Given the description of an element on the screen output the (x, y) to click on. 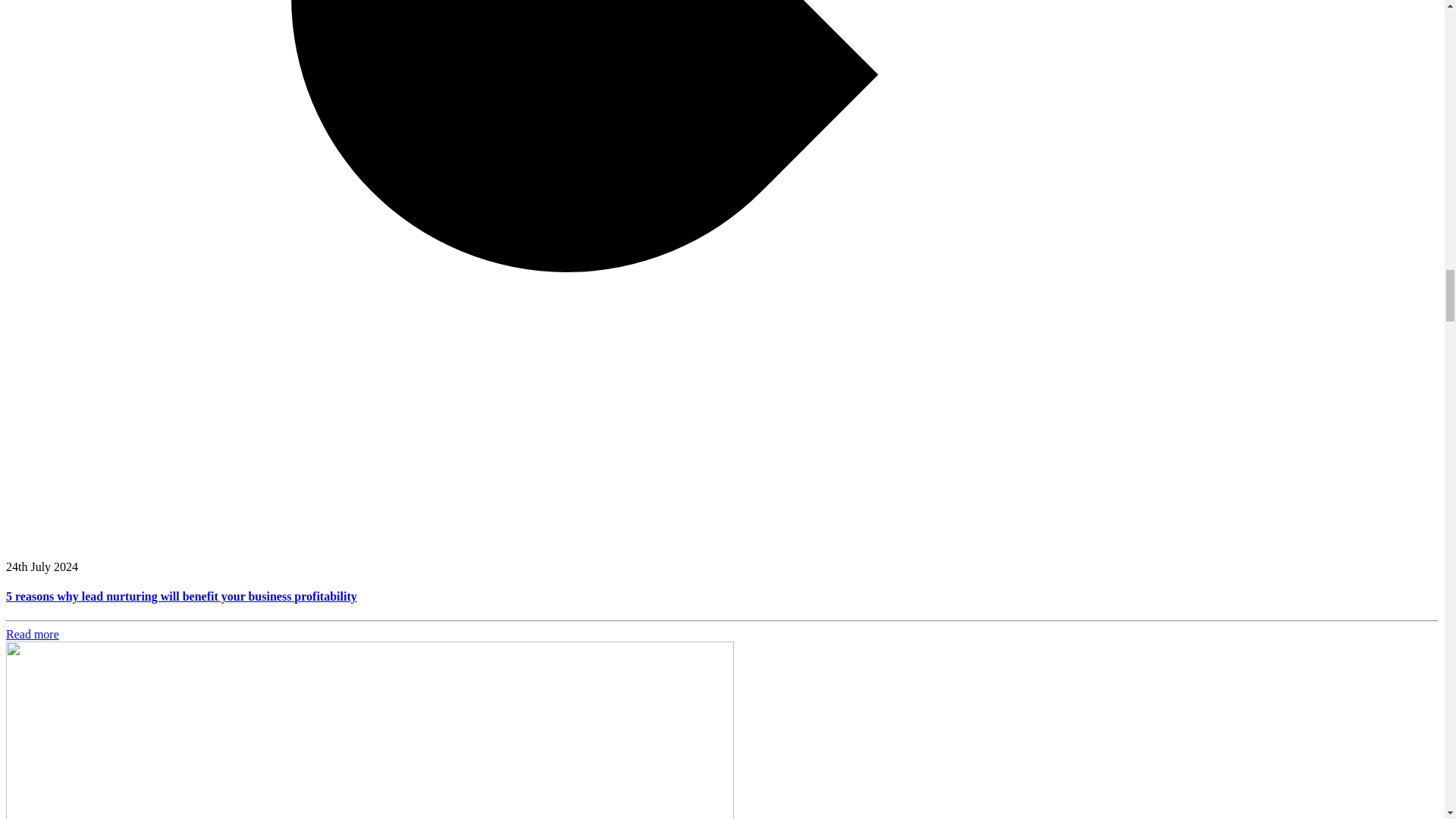
Read more (32, 634)
